Given the description of an element on the screen output the (x, y) to click on. 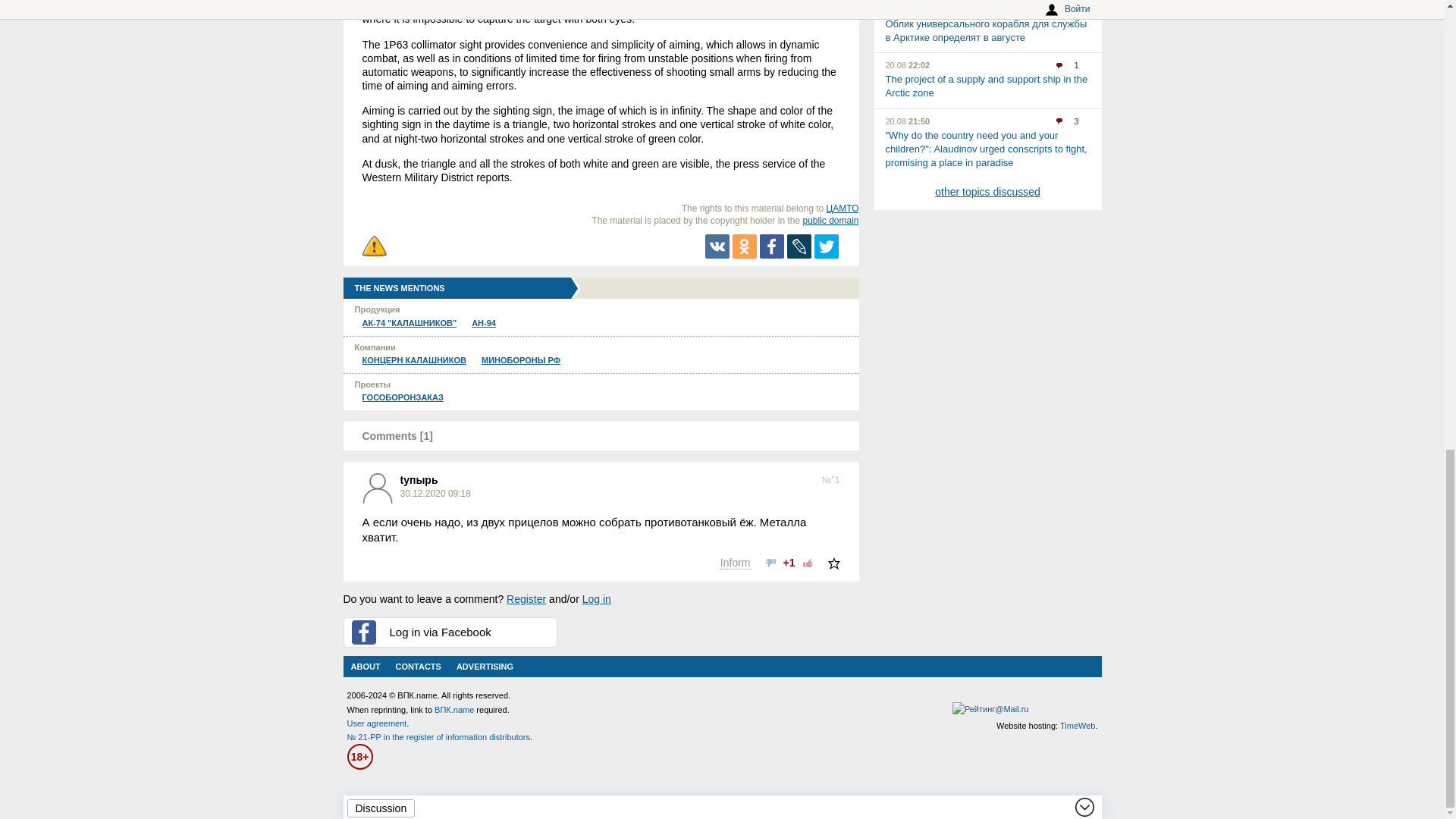
Inform (735, 562)
Register (526, 598)
Log in (596, 598)
Log in via Facebook (449, 632)
public domain (830, 220)
Report inaccuracies or errors in the material (374, 246)
